Given the description of an element on the screen output the (x, y) to click on. 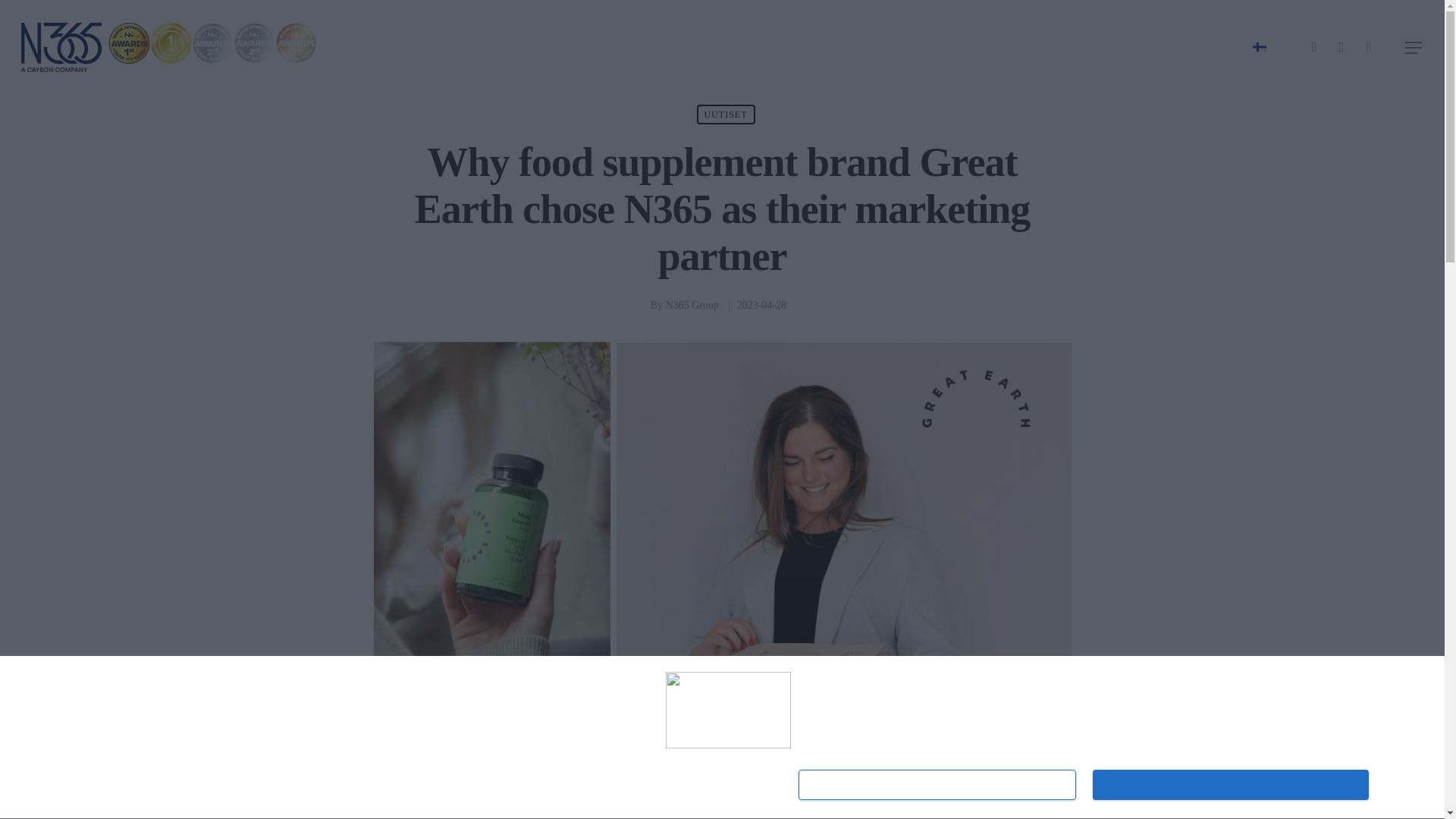
Finnish (1259, 46)
UUTISET (724, 114)
N365 Group (692, 305)
Kirjoittanut: N365 Group (692, 305)
